Given the description of an element on the screen output the (x, y) to click on. 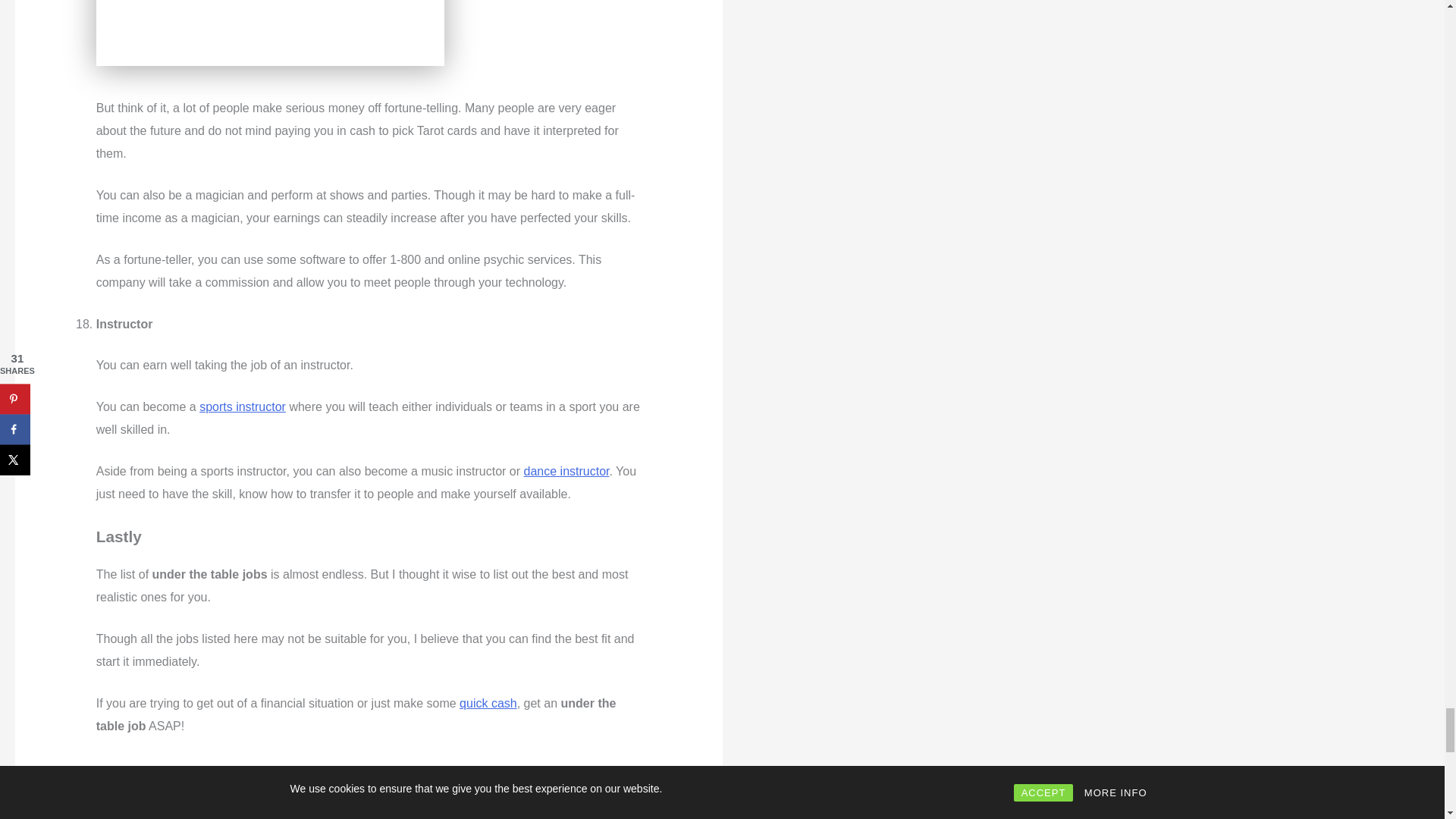
sports instructor (242, 406)
dance instructor (567, 471)
quick cash (488, 703)
Author (117, 788)
